Given the description of an element on the screen output the (x, y) to click on. 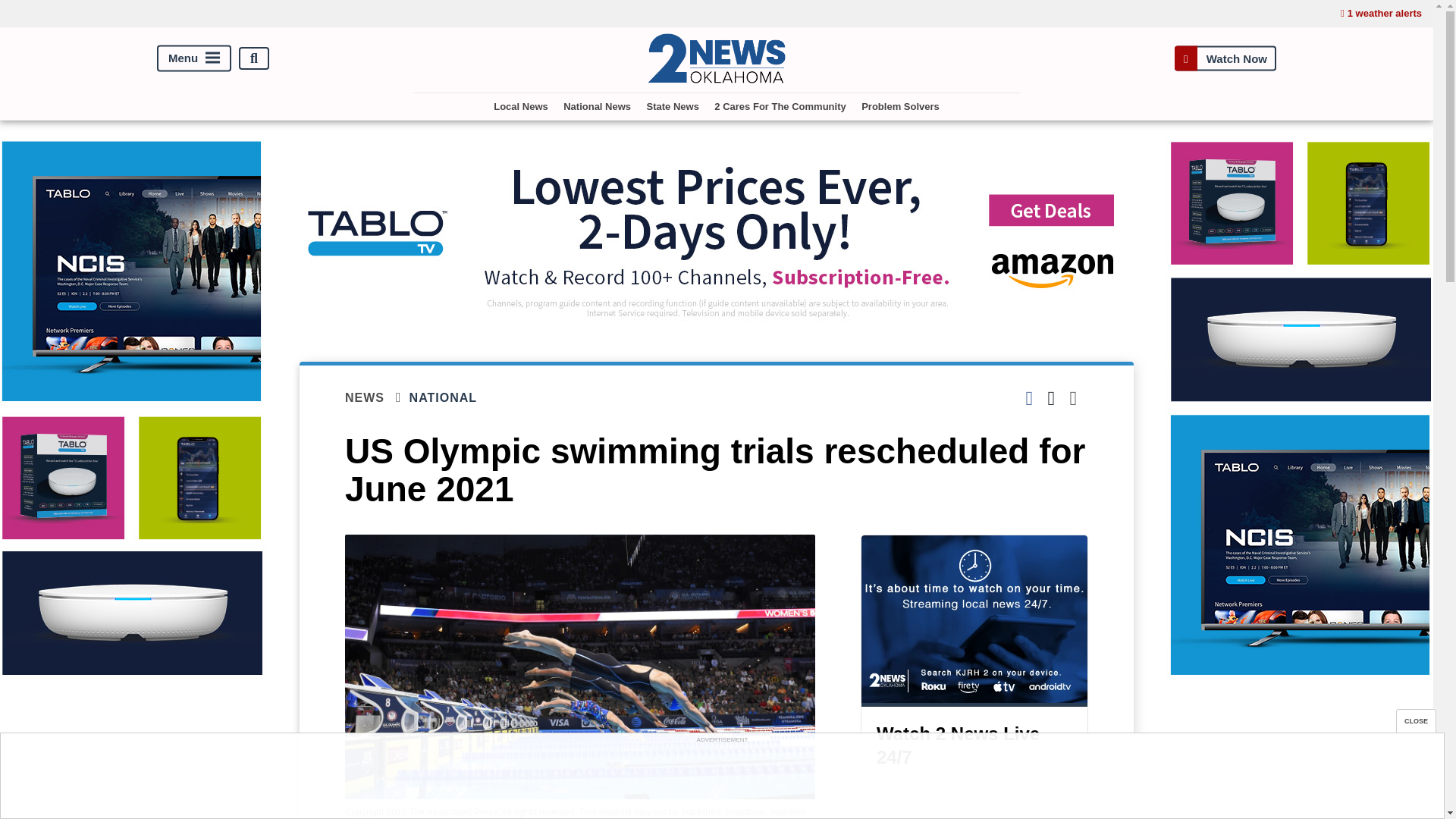
3rd party ad content (721, 780)
Menu (194, 58)
Watch Now (1224, 58)
